Given the description of an element on the screen output the (x, y) to click on. 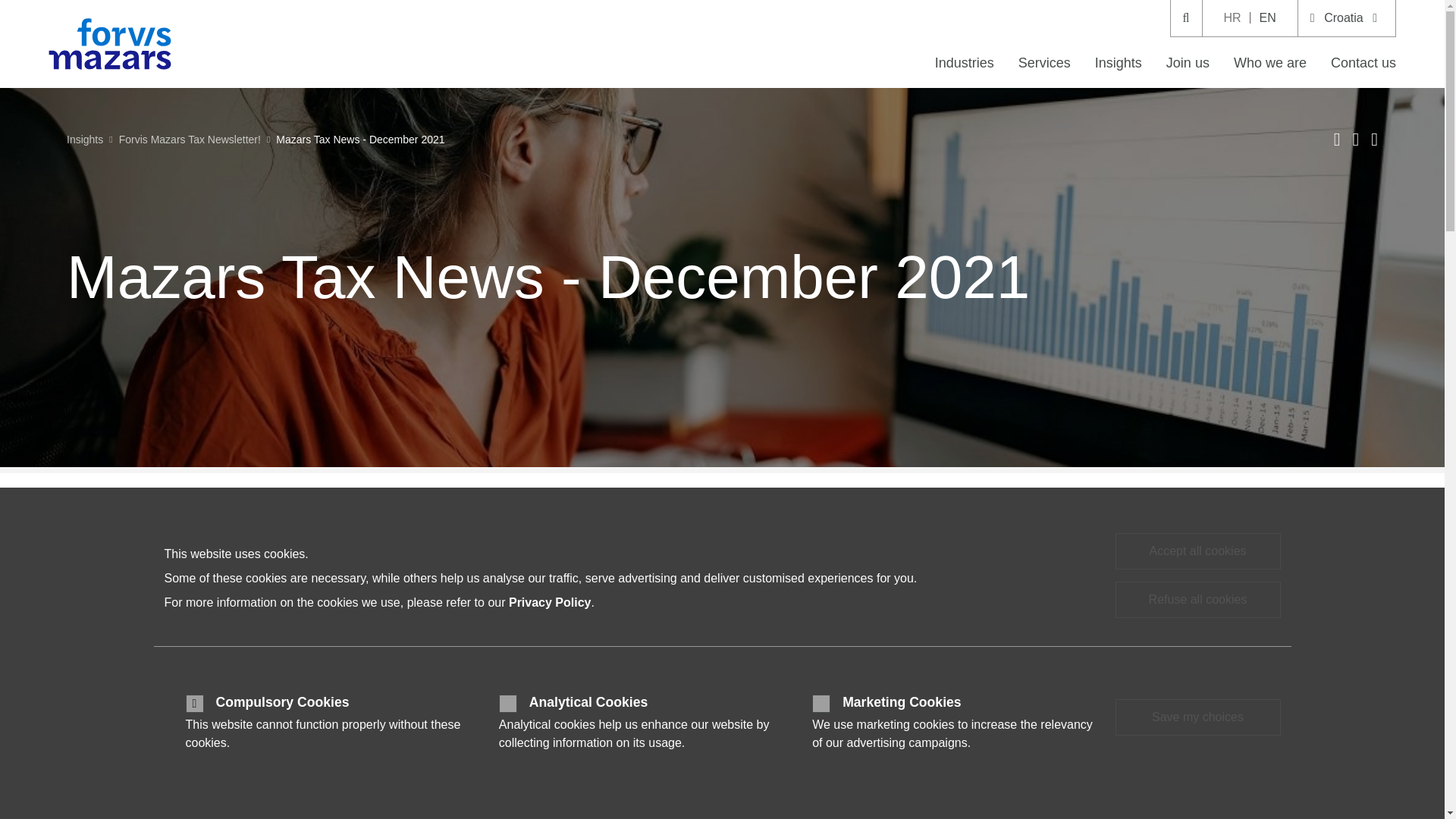
Croatia (1346, 18)
HR (1232, 17)
